Given the description of an element on the screen output the (x, y) to click on. 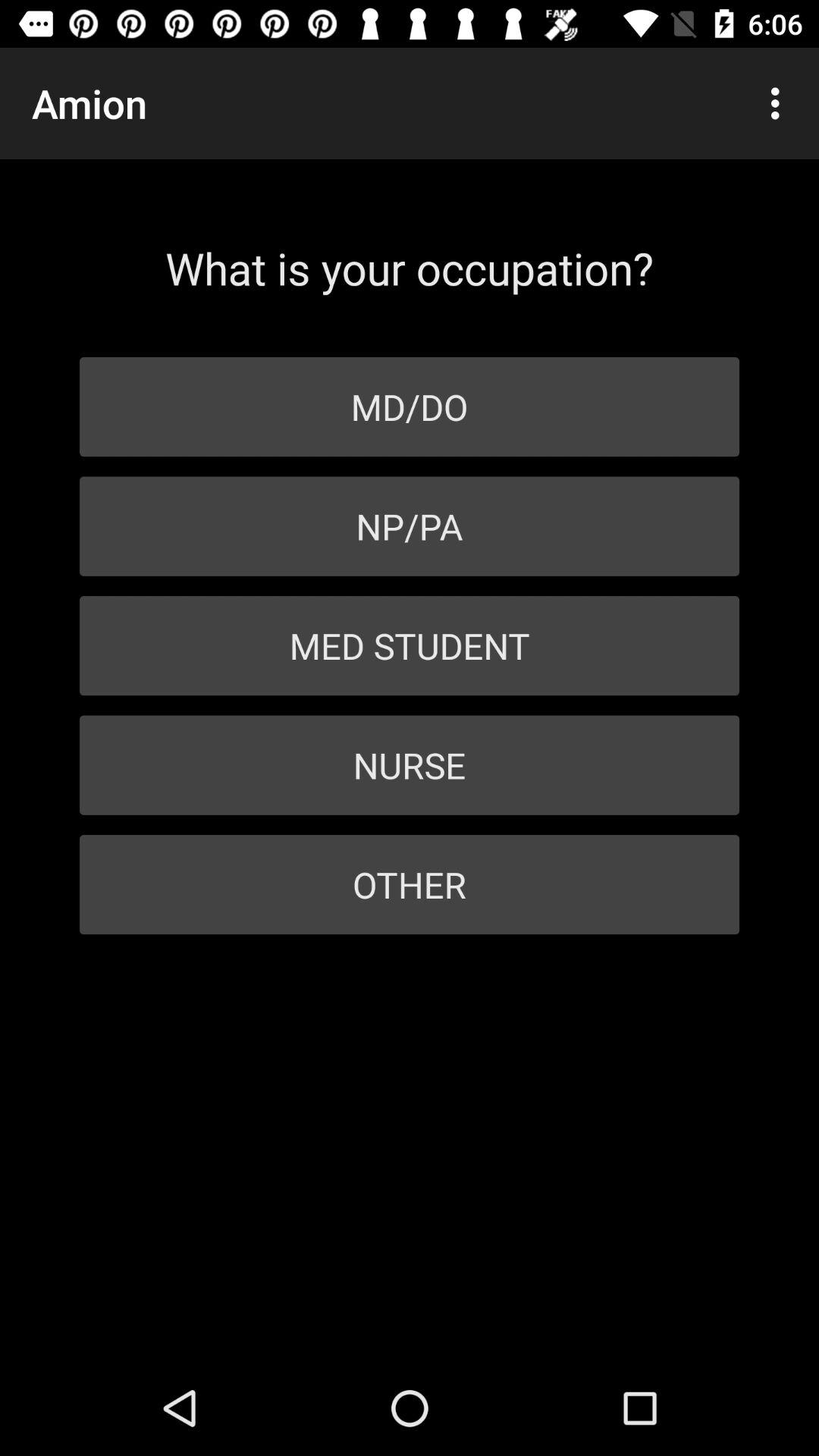
press the icon at the top right corner (779, 103)
